Given the description of an element on the screen output the (x, y) to click on. 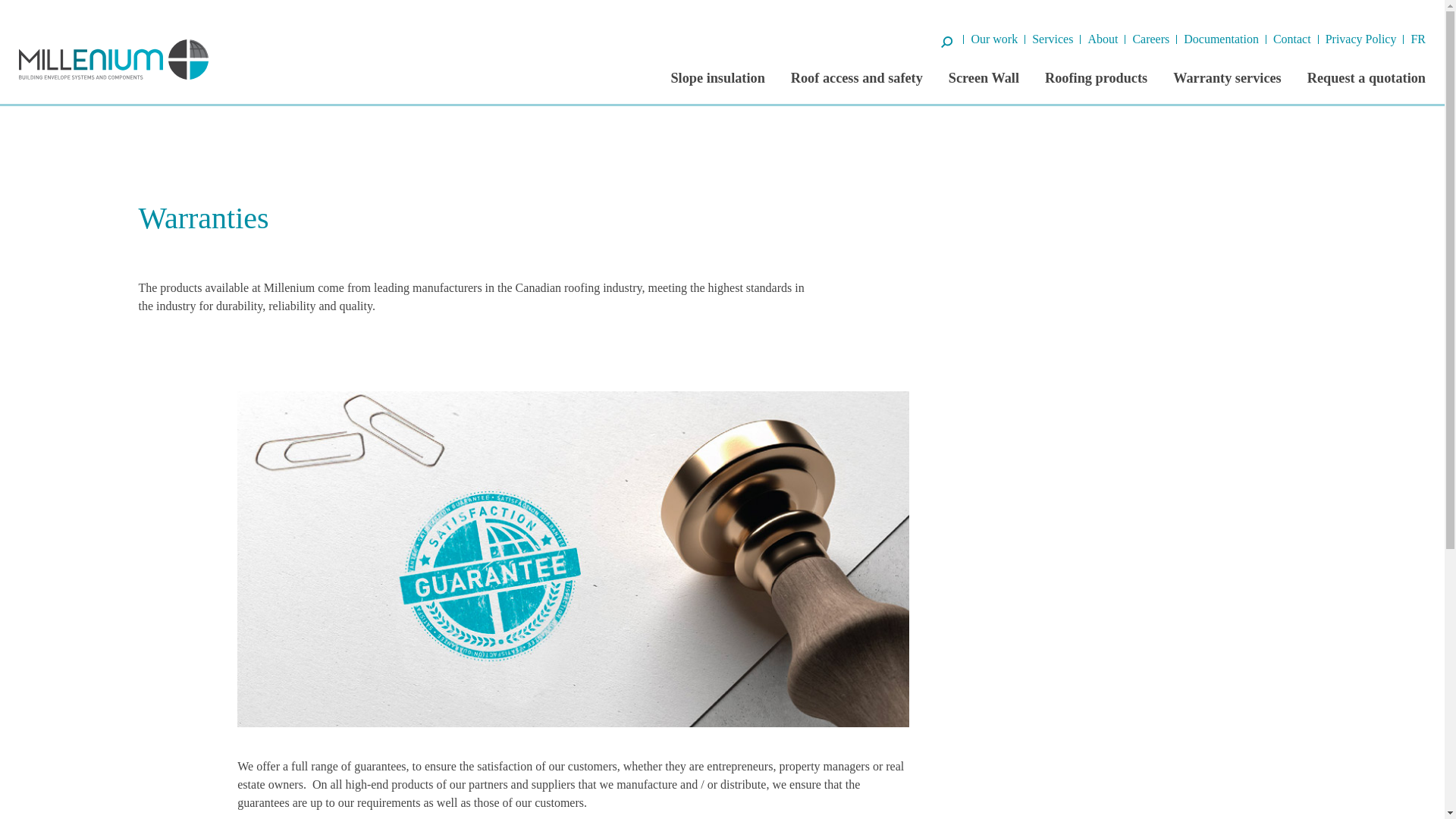
Roof access and safety (856, 77)
Request a quotation (1366, 77)
About (1102, 38)
Slope insulation (716, 77)
Services (1052, 38)
Documentation (1221, 38)
Careers (1150, 38)
Roofing products (1096, 77)
Our work (994, 38)
Privacy Policy (1360, 38)
